Given the description of an element on the screen output the (x, y) to click on. 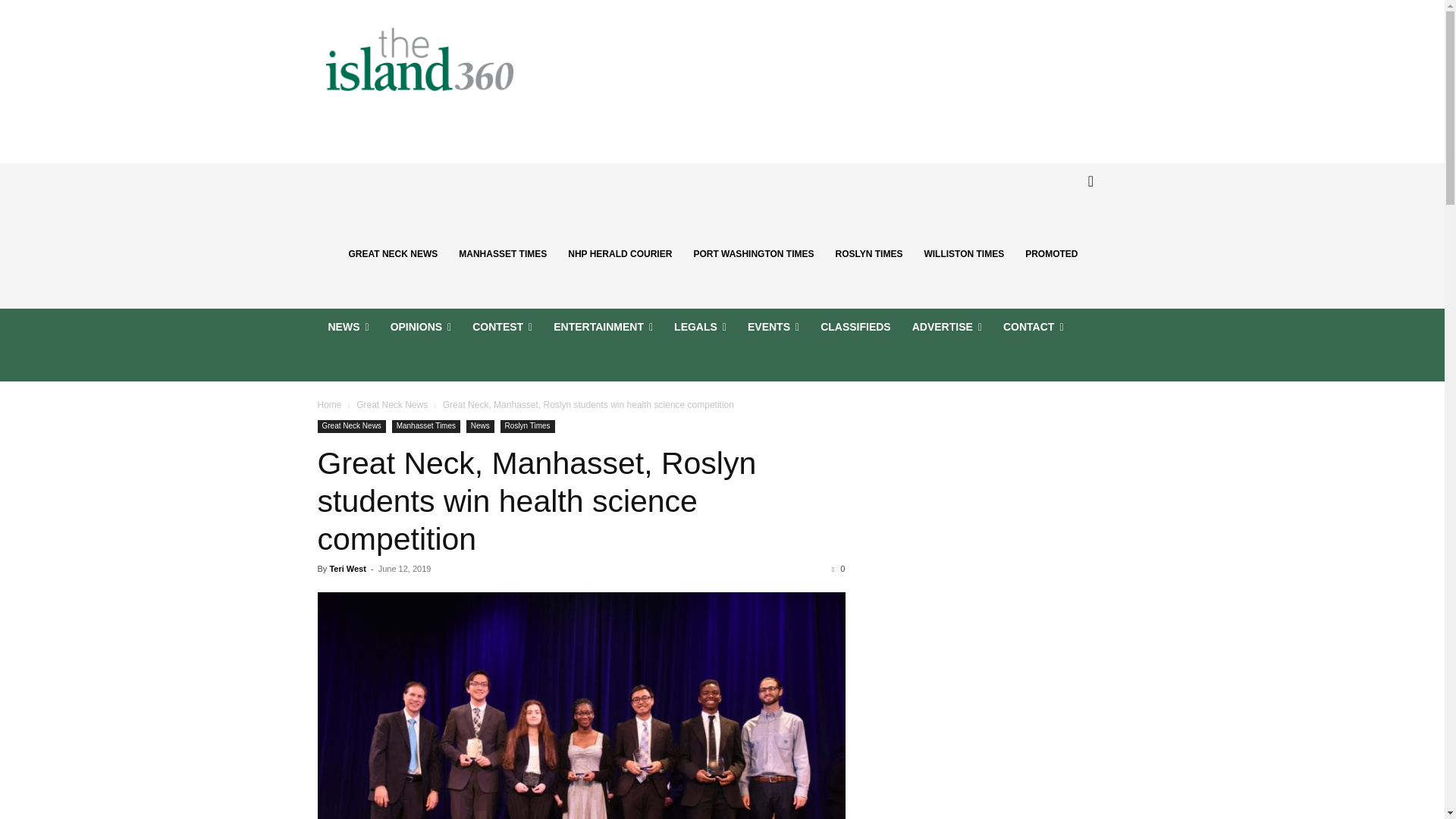
View all posts in Great Neck News (392, 404)
Posts by Teri West (347, 568)
